Given the description of an element on the screen output the (x, y) to click on. 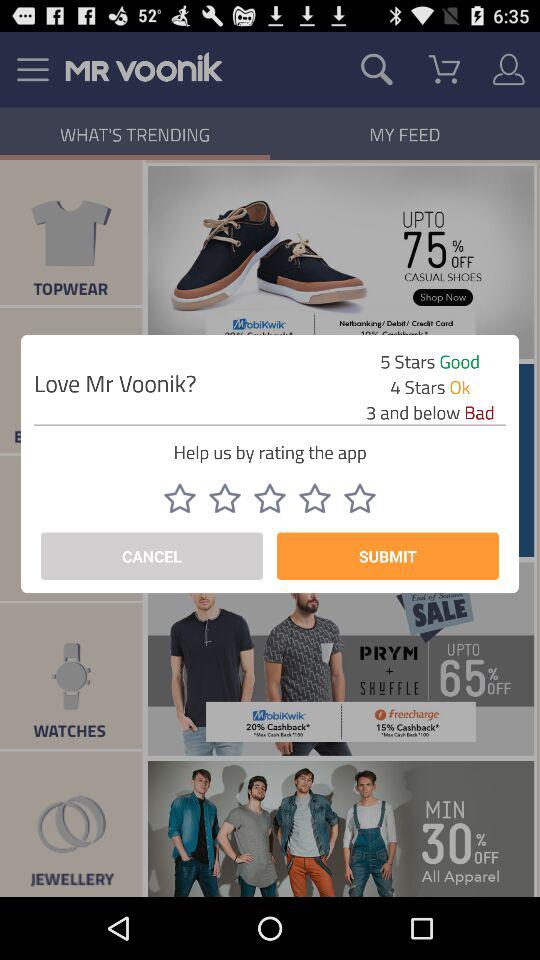
tap button to the right of the cancel button (387, 556)
